Given the description of an element on the screen output the (x, y) to click on. 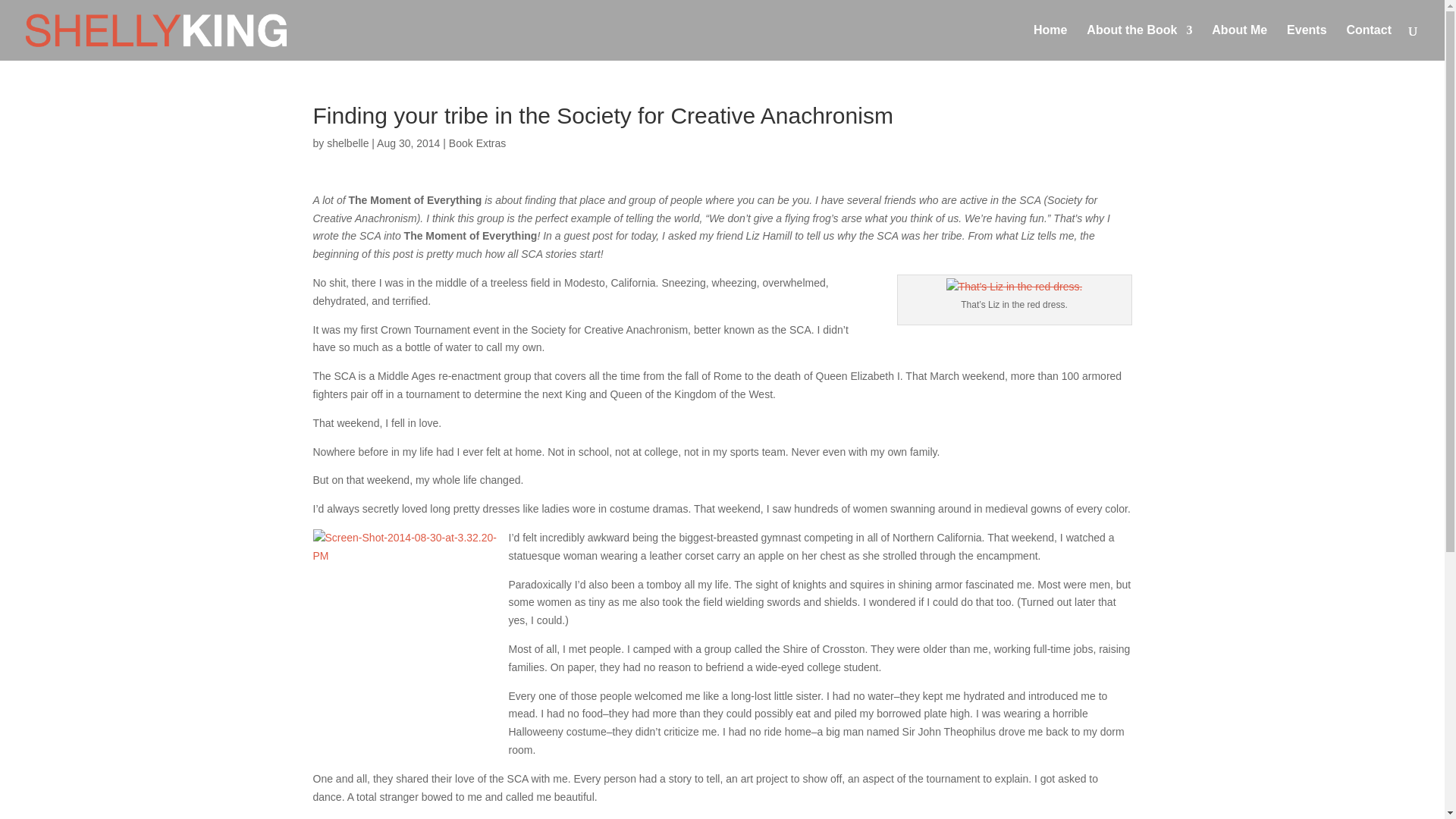
About the Book (1139, 42)
Book Extras (476, 143)
Home (1050, 42)
shelbelle (347, 143)
Contact (1368, 42)
About Me (1238, 42)
Events (1306, 42)
Posts by shelbelle (347, 143)
